Given the description of an element on the screen output the (x, y) to click on. 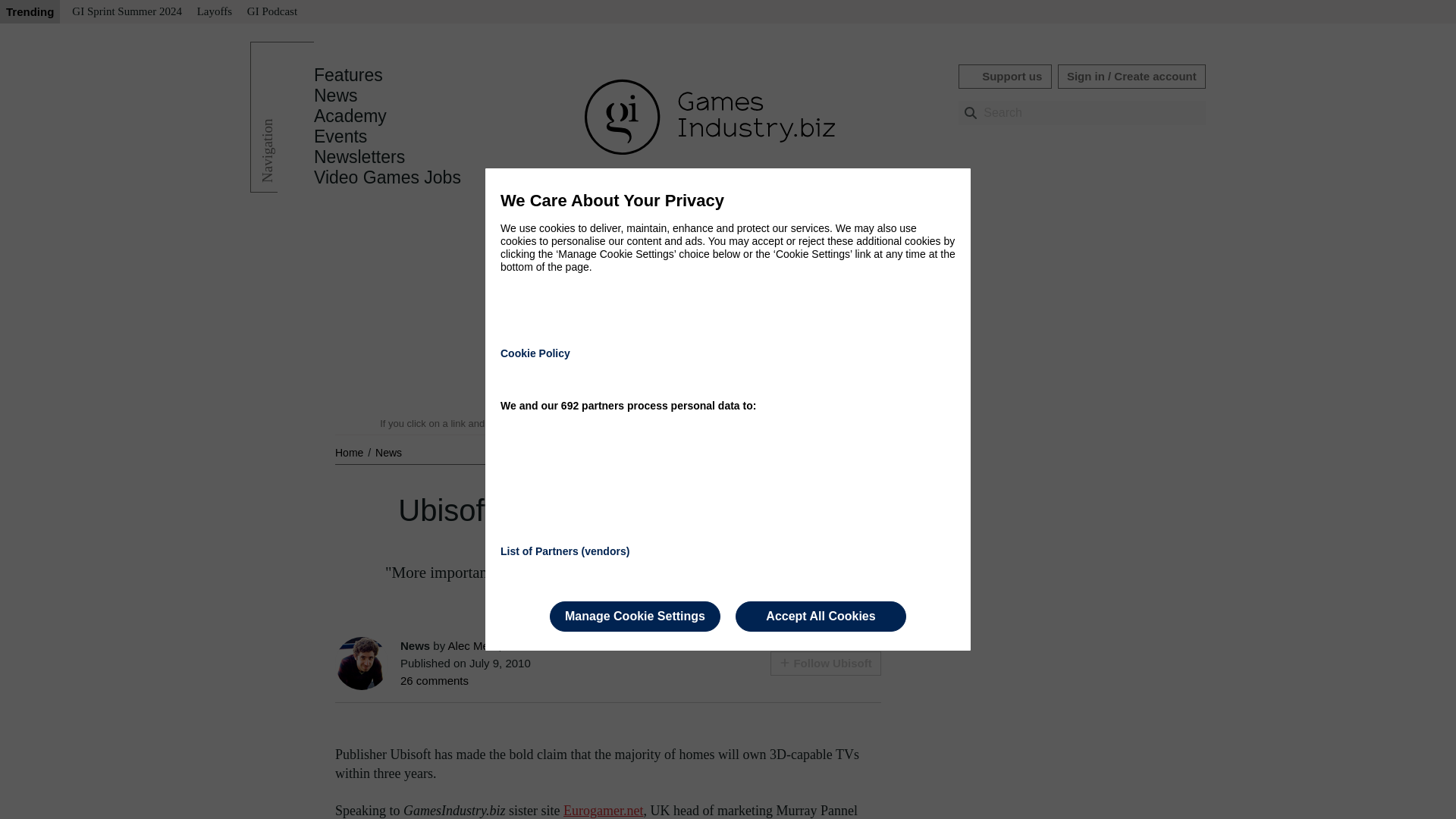
Follow Ubisoft (825, 663)
Read our editorial policy (781, 423)
Layoffs (214, 11)
GI Sprint Summer 2024 (126, 11)
Alec Meer (473, 645)
Academy (350, 116)
26 comments (434, 680)
Support us (1004, 75)
Home (350, 452)
Features (348, 75)
Events (340, 136)
GI Sprint Summer 2024 (126, 11)
Layoffs (214, 11)
Features (348, 75)
News (336, 95)
